Given the description of an element on the screen output the (x, y) to click on. 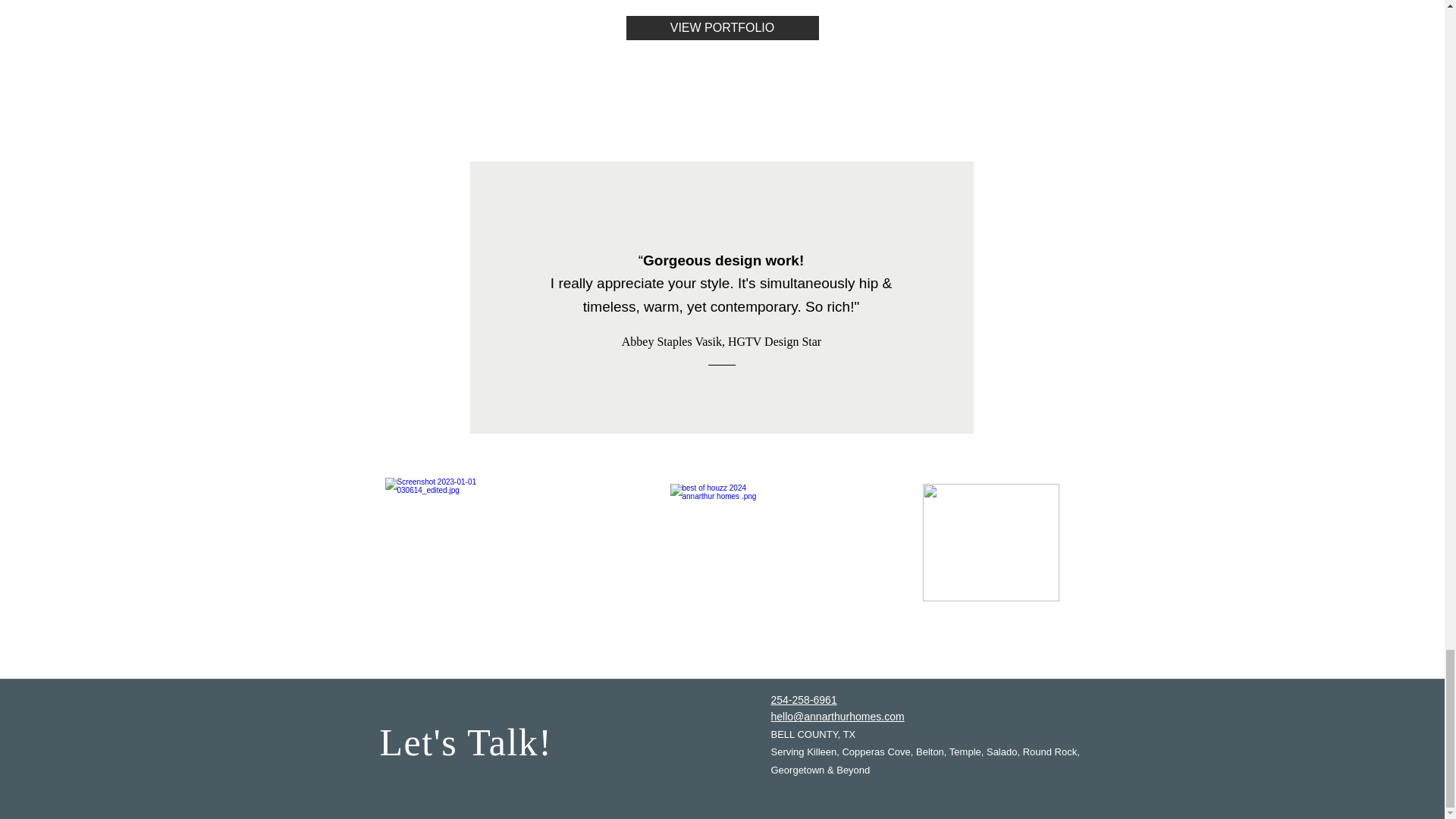
VIEW PORTFOLIO (722, 27)
254-258-6961 (802, 699)
